Given the description of an element on the screen output the (x, y) to click on. 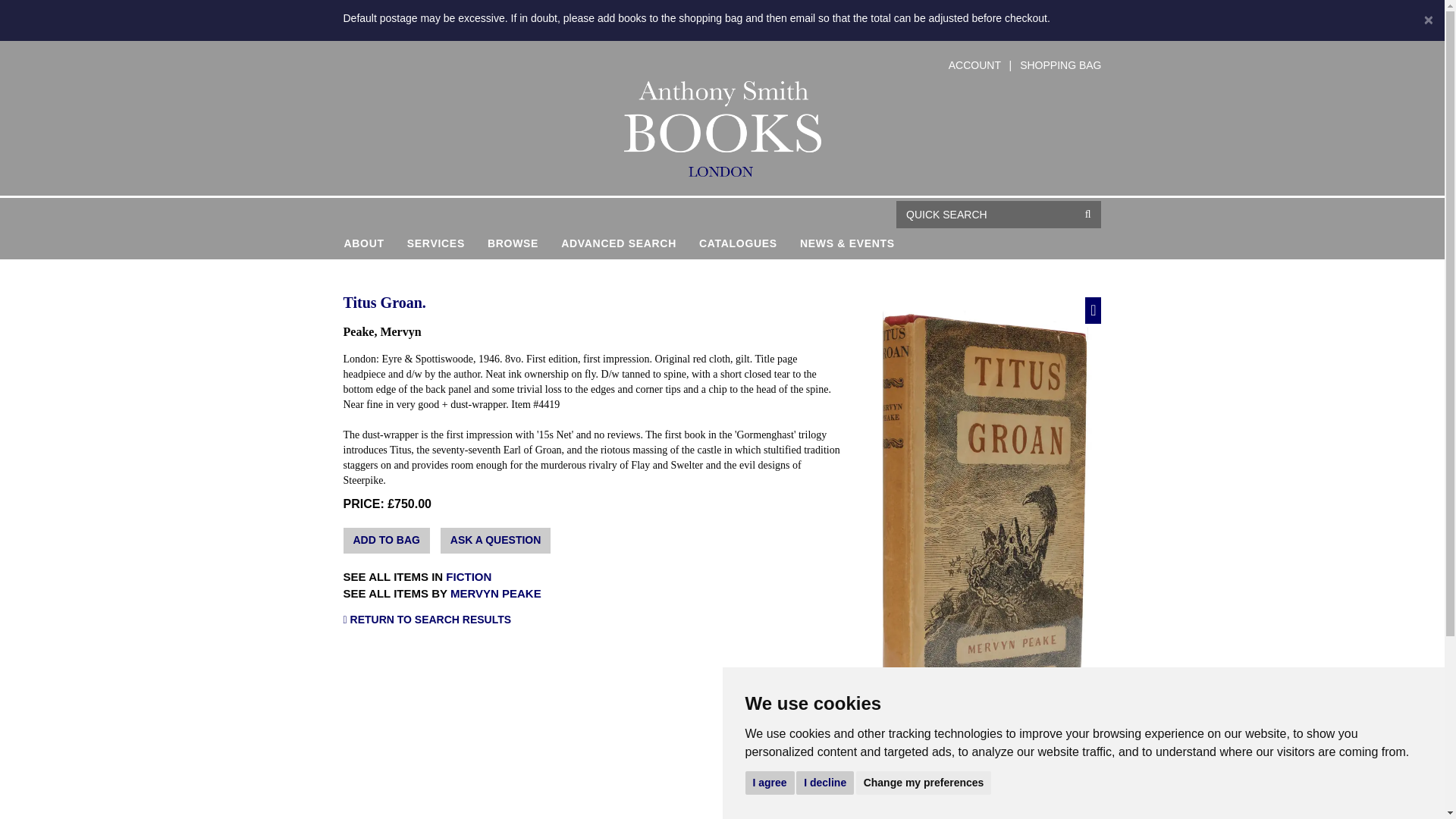
RETURN TO SEARCH RESULTS (591, 620)
ABOUT (369, 243)
I agree (768, 781)
Anthony Smith Books (721, 128)
I decline (824, 781)
SERVICES (436, 243)
Titus Groan (901, 771)
SHOPPING BAG (1060, 64)
CATALOGUES (738, 243)
BROWSE (513, 243)
FICTION (468, 576)
MERVYN PEAKE (495, 593)
ADD TO BAG (385, 540)
ADVANCED SEARCH (618, 243)
Change my preferences (923, 781)
